Given the description of an element on the screen output the (x, y) to click on. 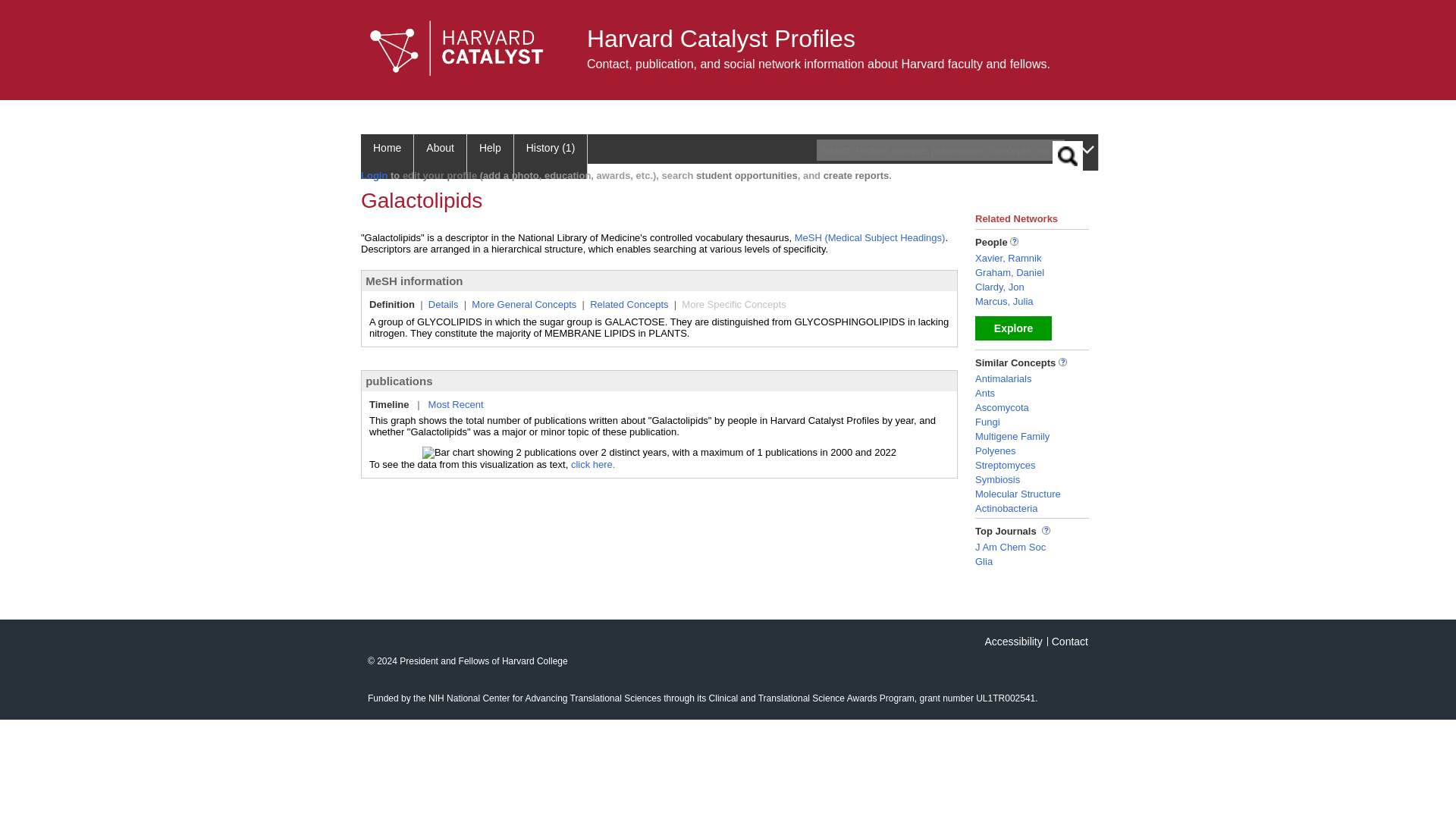
MeSH information (414, 280)
Details (443, 304)
Definition (391, 304)
View Harvard Catalyst Homepage (456, 49)
Accessibility (1013, 641)
Login (374, 174)
Home (387, 156)
More Specific Concepts (733, 304)
Help (490, 156)
More General Concepts (523, 304)
Contact (1069, 641)
publications (398, 380)
Related Concepts (628, 304)
About (440, 156)
